Given the description of an element on the screen output the (x, y) to click on. 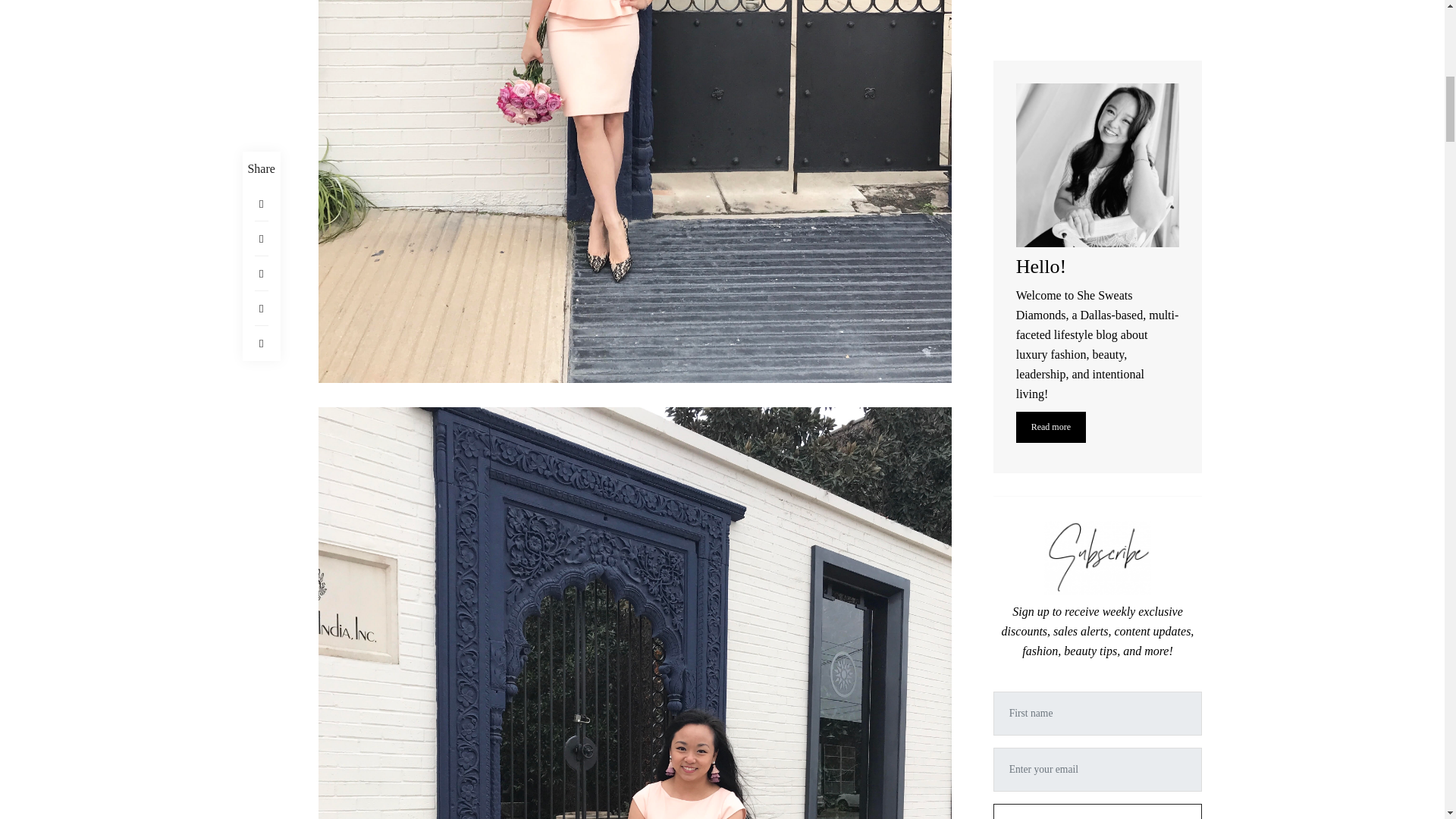
Join Now (1097, 153)
